Given the description of an element on the screen output the (x, y) to click on. 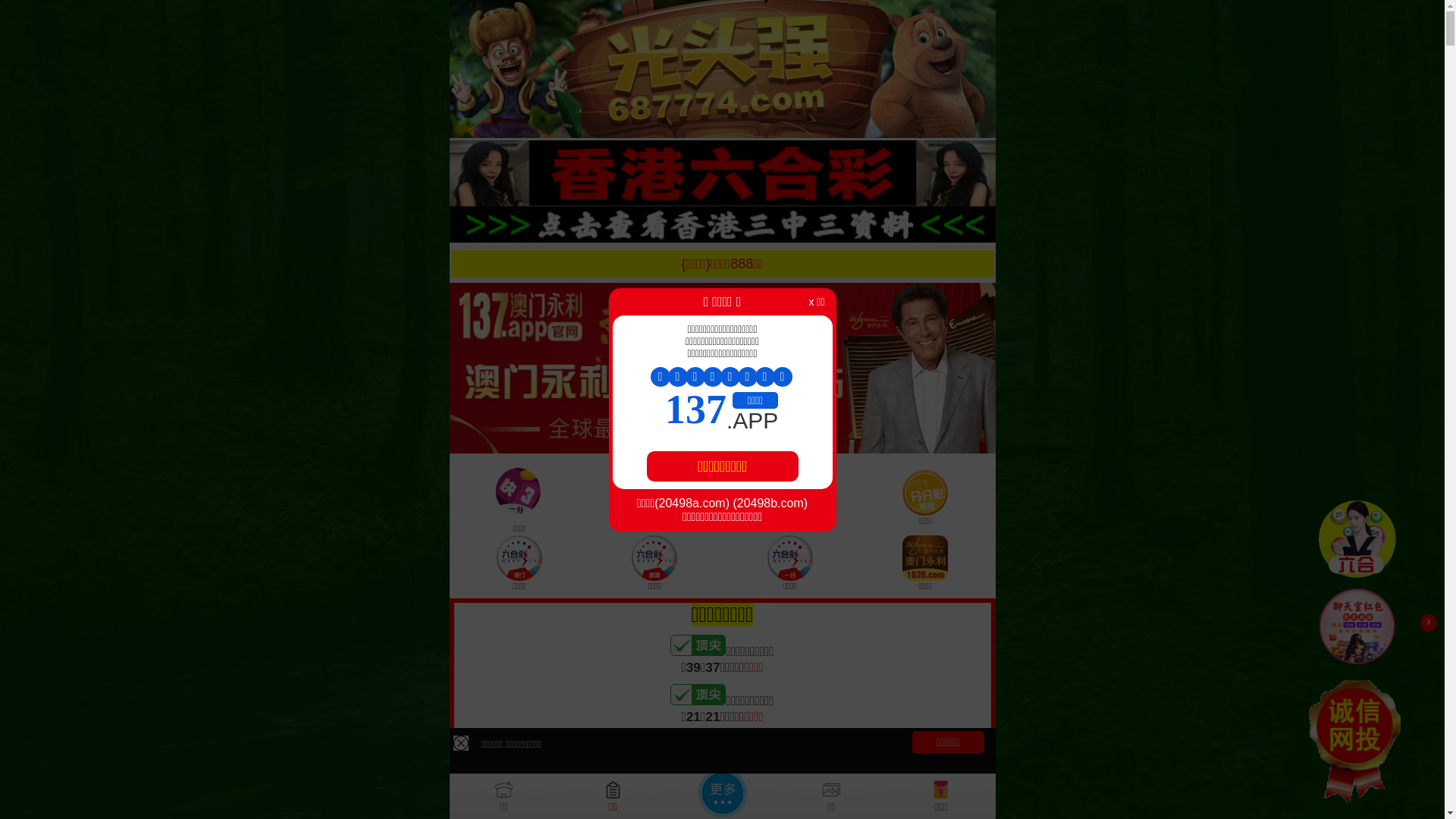
x Element type: text (1428, 622)
